Given the description of an element on the screen output the (x, y) to click on. 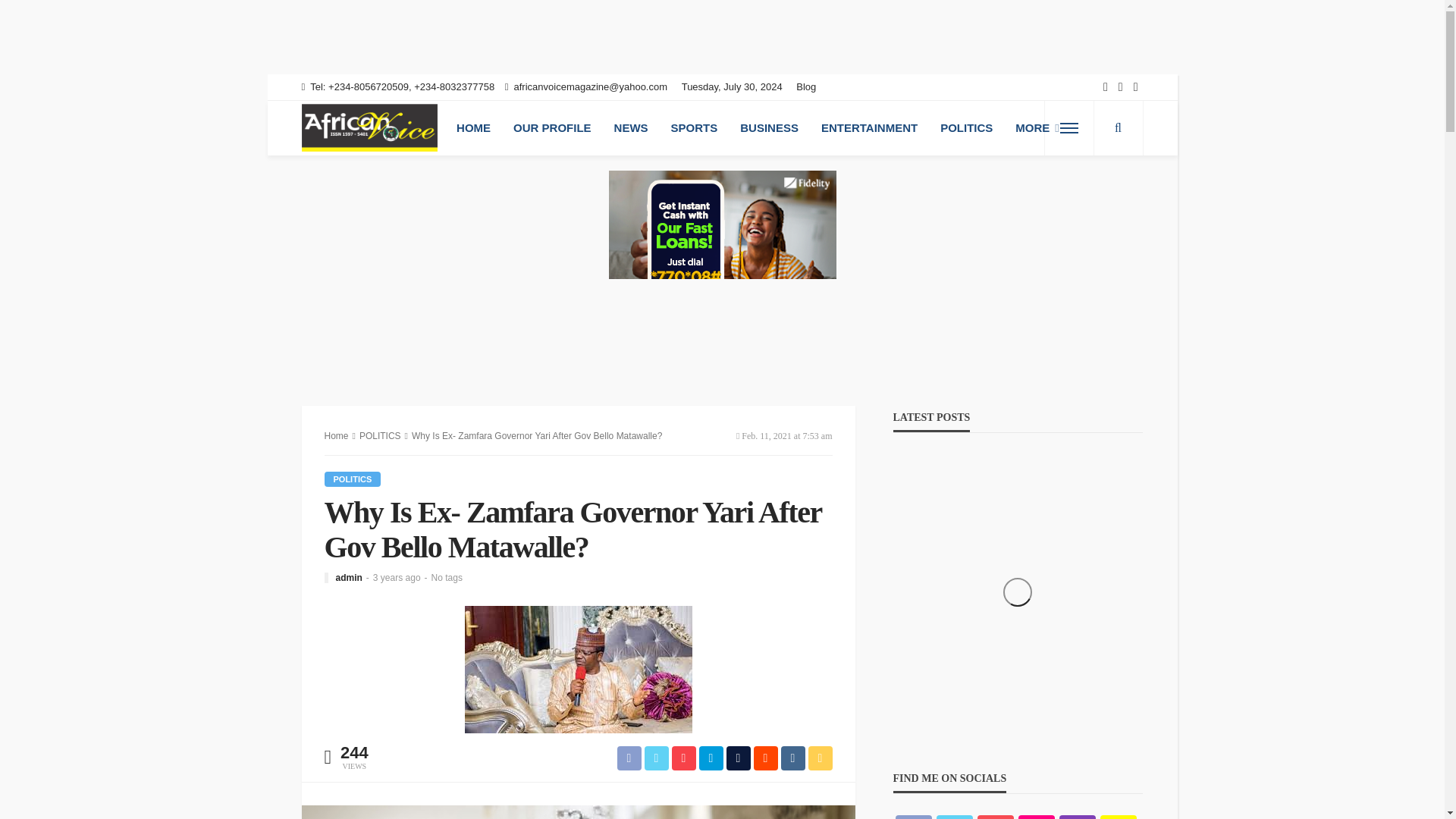
BUSINESS (769, 126)
SPORTS (694, 126)
POLITICS (352, 478)
HOME (473, 126)
POLITICS (380, 435)
Home (336, 435)
ENTERTAINMENT (868, 126)
Blog (810, 86)
AFRICAN VOICE MAGAZINE (369, 127)
NEWS (630, 126)
MORE (1037, 126)
OUR PROFILE (552, 126)
POLITICS (966, 126)
